Given the description of an element on the screen output the (x, y) to click on. 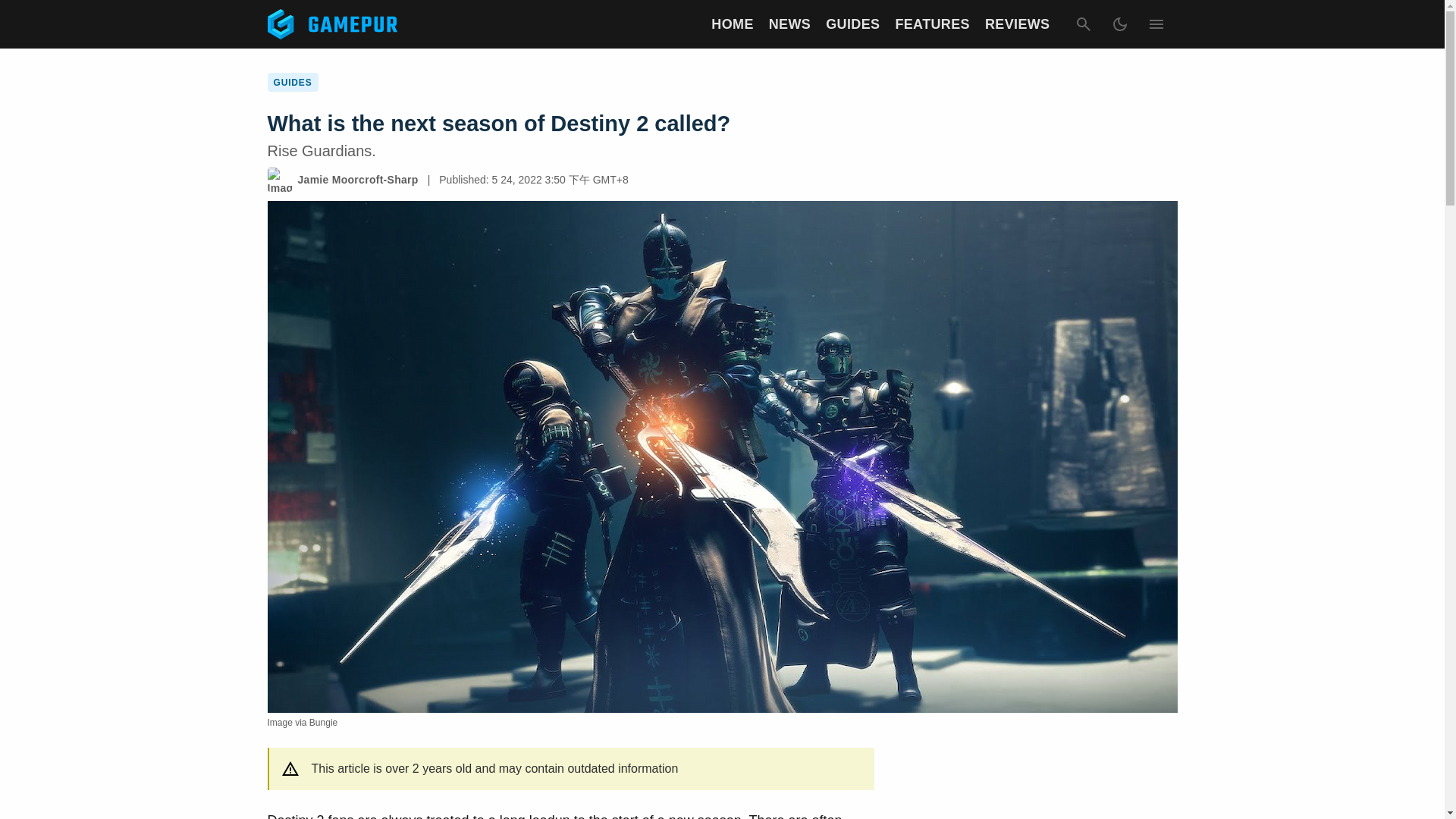
NEWS (789, 23)
REVIEWS (1017, 23)
GUIDES (852, 23)
Dark Mode (1118, 24)
Expand Menu (1155, 24)
Search (1082, 24)
HOME (731, 23)
FEATURES (932, 23)
